Given the description of an element on the screen output the (x, y) to click on. 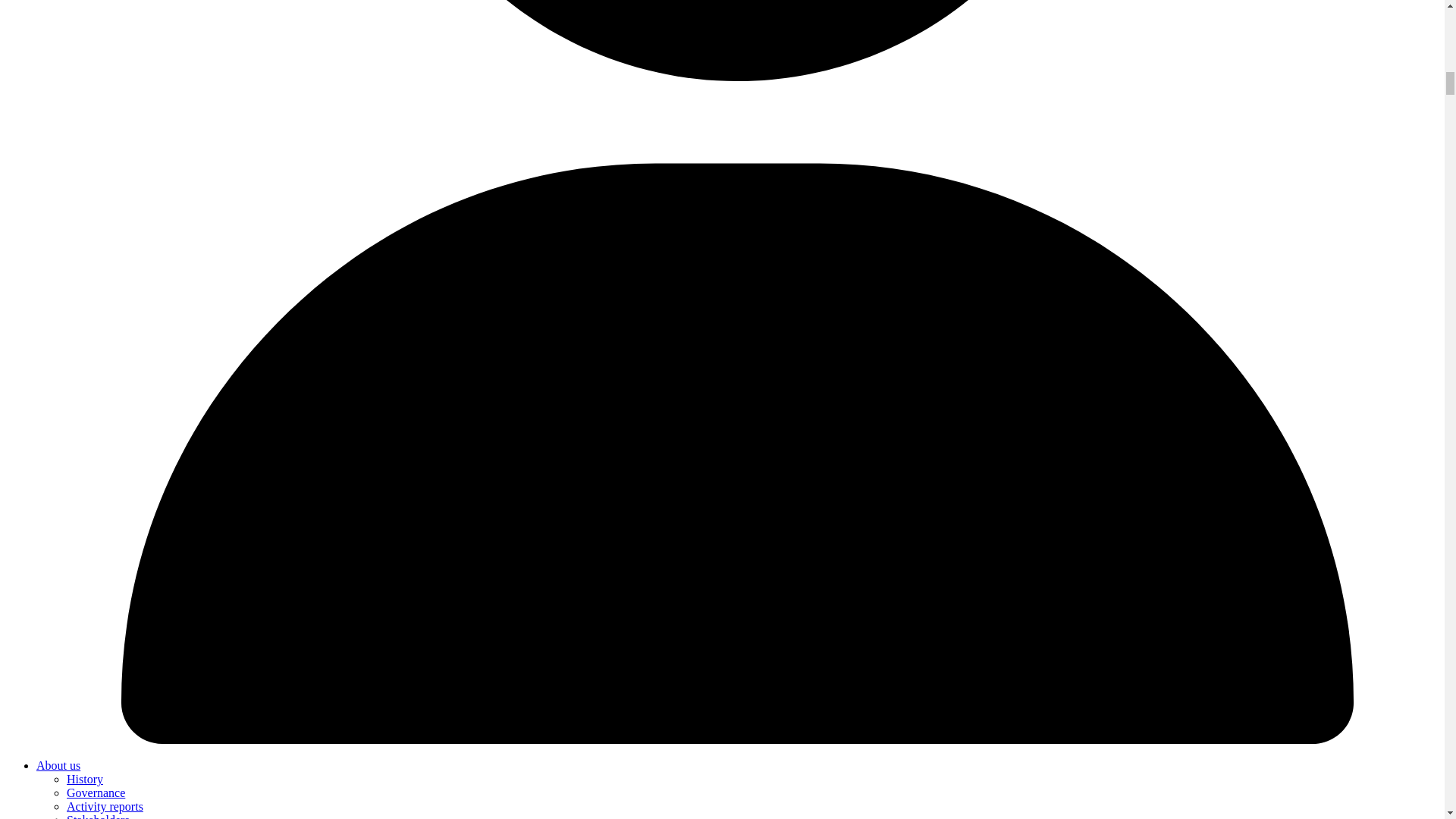
Stakeholders (97, 816)
History (84, 779)
About us (58, 765)
Activity reports (104, 806)
Governance  (95, 792)
Stakeholders (97, 816)
About us (58, 765)
Activity reports (104, 806)
History (84, 779)
Governance (95, 792)
